Given the description of an element on the screen output the (x, y) to click on. 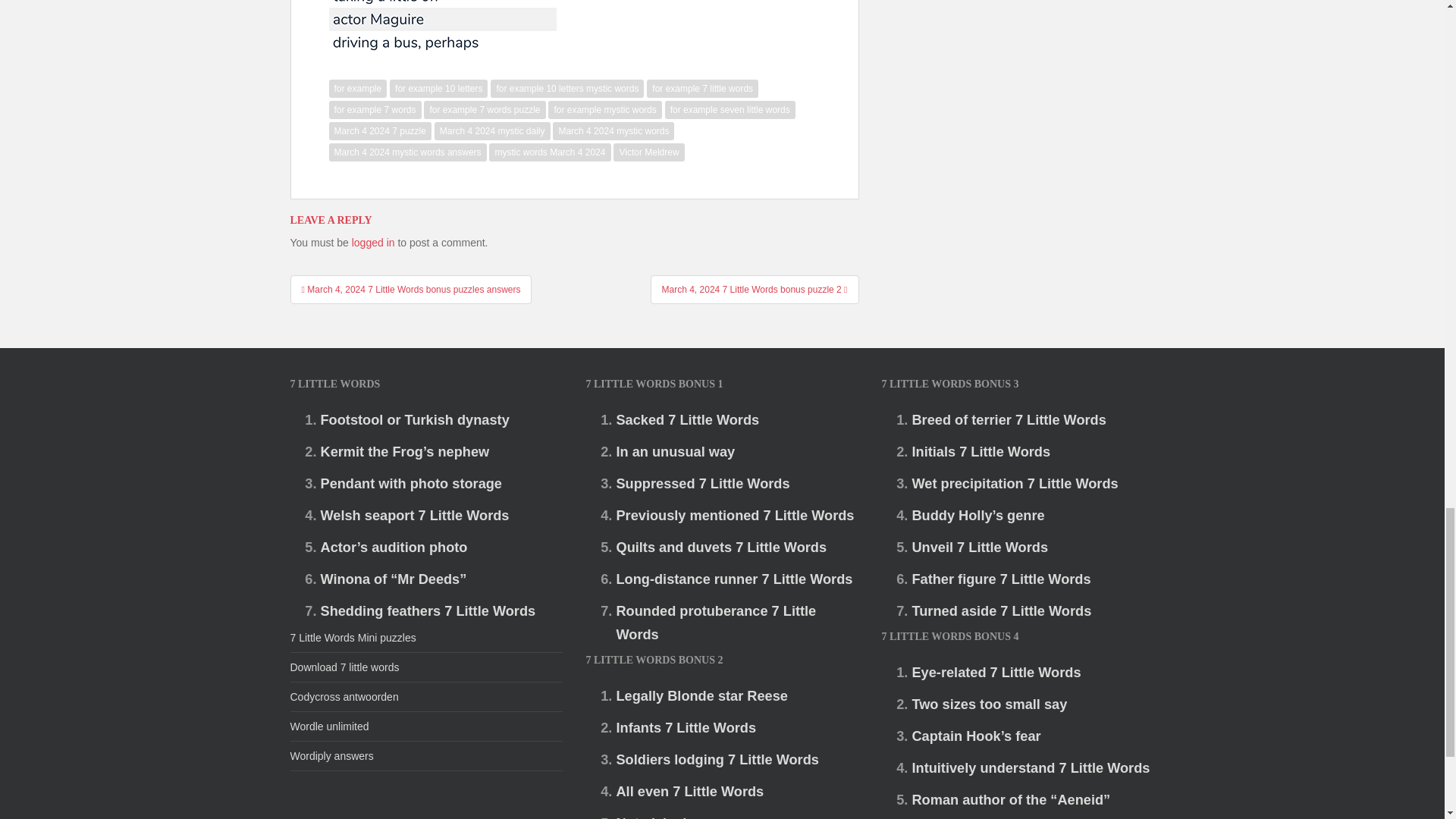
March 4 2024 7 puzzle (379, 131)
March 4 2024 mystic words (613, 131)
for example 10 letters mystic words (566, 88)
March 4 2024 mystic words answers (407, 152)
for example 10 letters (438, 88)
for example 7 words puzzle (483, 109)
Victor Meldrew (648, 152)
March 4, 2024 7 Little Words bonus puzzle 2 (754, 289)
for example 7 words (375, 109)
March 4 2024 mystic daily (491, 131)
March 4, 2024 7 Little Words bonus puzzles answers (410, 289)
for example mystic words (604, 109)
for example seven little words (729, 109)
for example 7 little words (702, 88)
for example (358, 88)
